Given the description of an element on the screen output the (x, y) to click on. 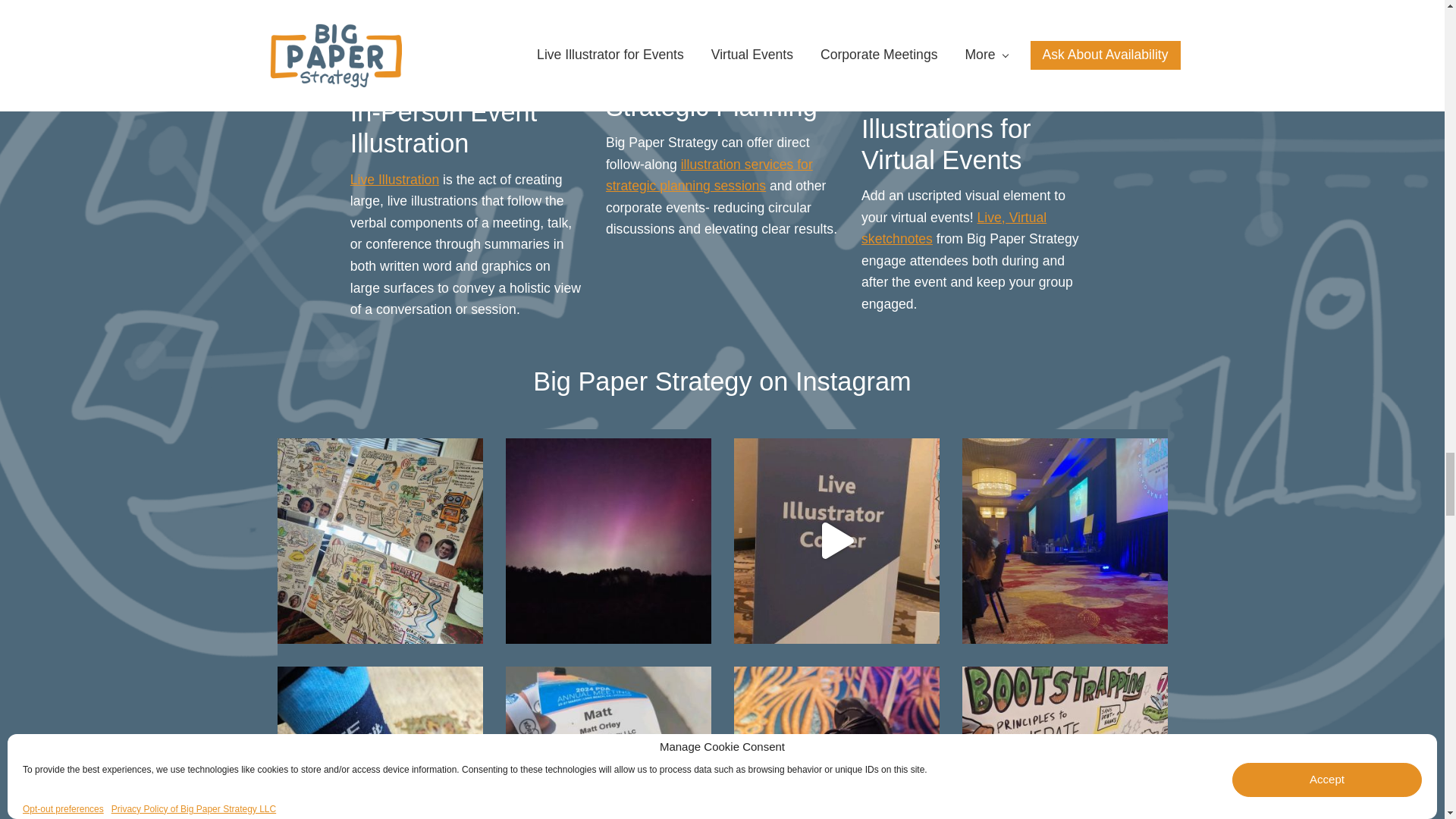
Strategic Planning (721, 34)
Graphic Recording (466, 37)
Virtual Conference and Webinar Illustration (977, 29)
